Given the description of an element on the screen output the (x, y) to click on. 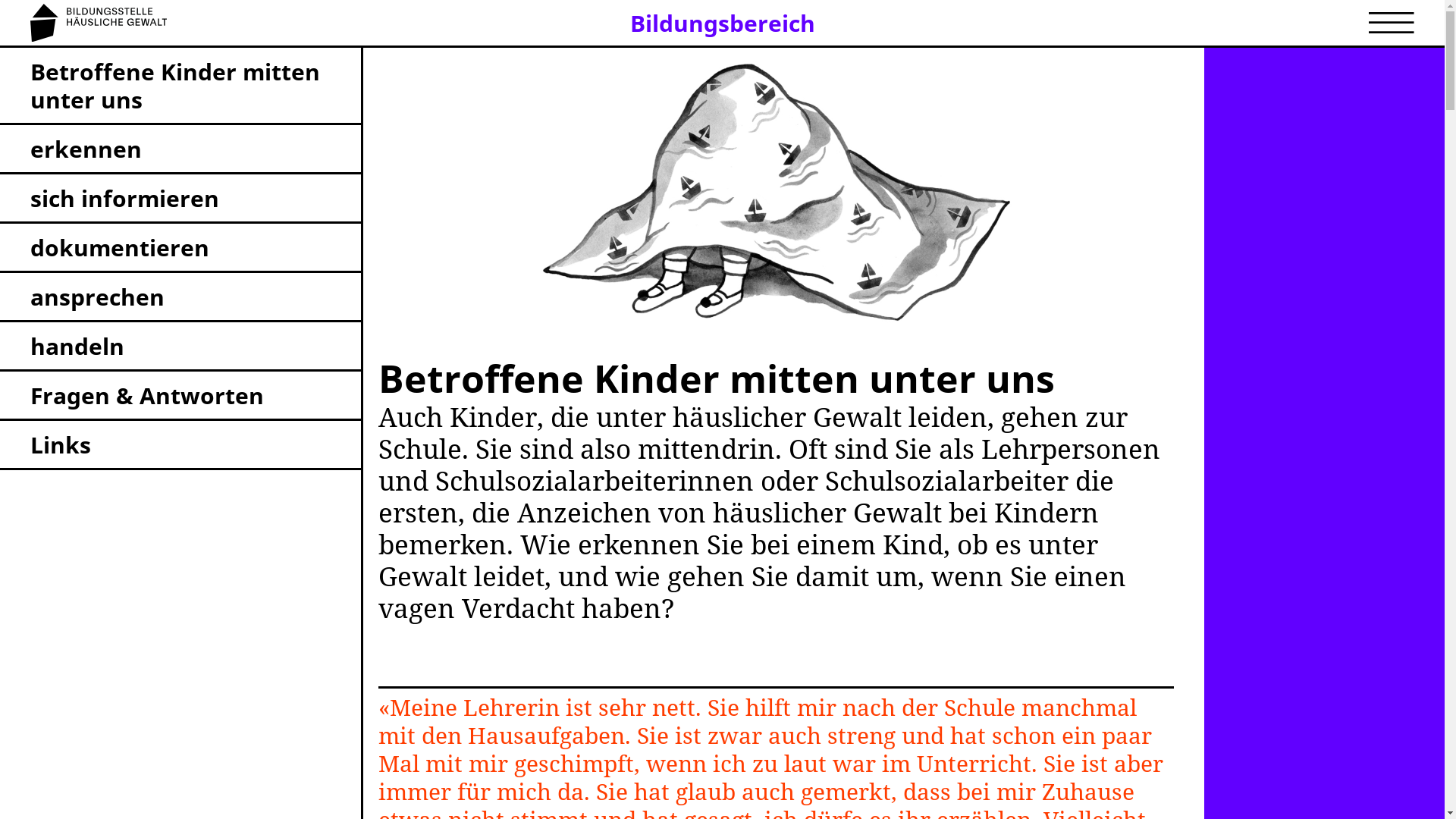
Betroffene Kinder mitten unter uns Element type: text (180, 86)
sich informieren Element type: text (180, 198)
Fragen & Antworten Element type: text (180, 395)
dokumentieren Element type: text (180, 248)
erkennen Element type: text (180, 149)
ansprechen Element type: text (180, 297)
bildungsbereich Element type: hover (775, 191)
handeln Element type: text (180, 346)
Links Element type: text (180, 445)
